Given the description of an element on the screen output the (x, y) to click on. 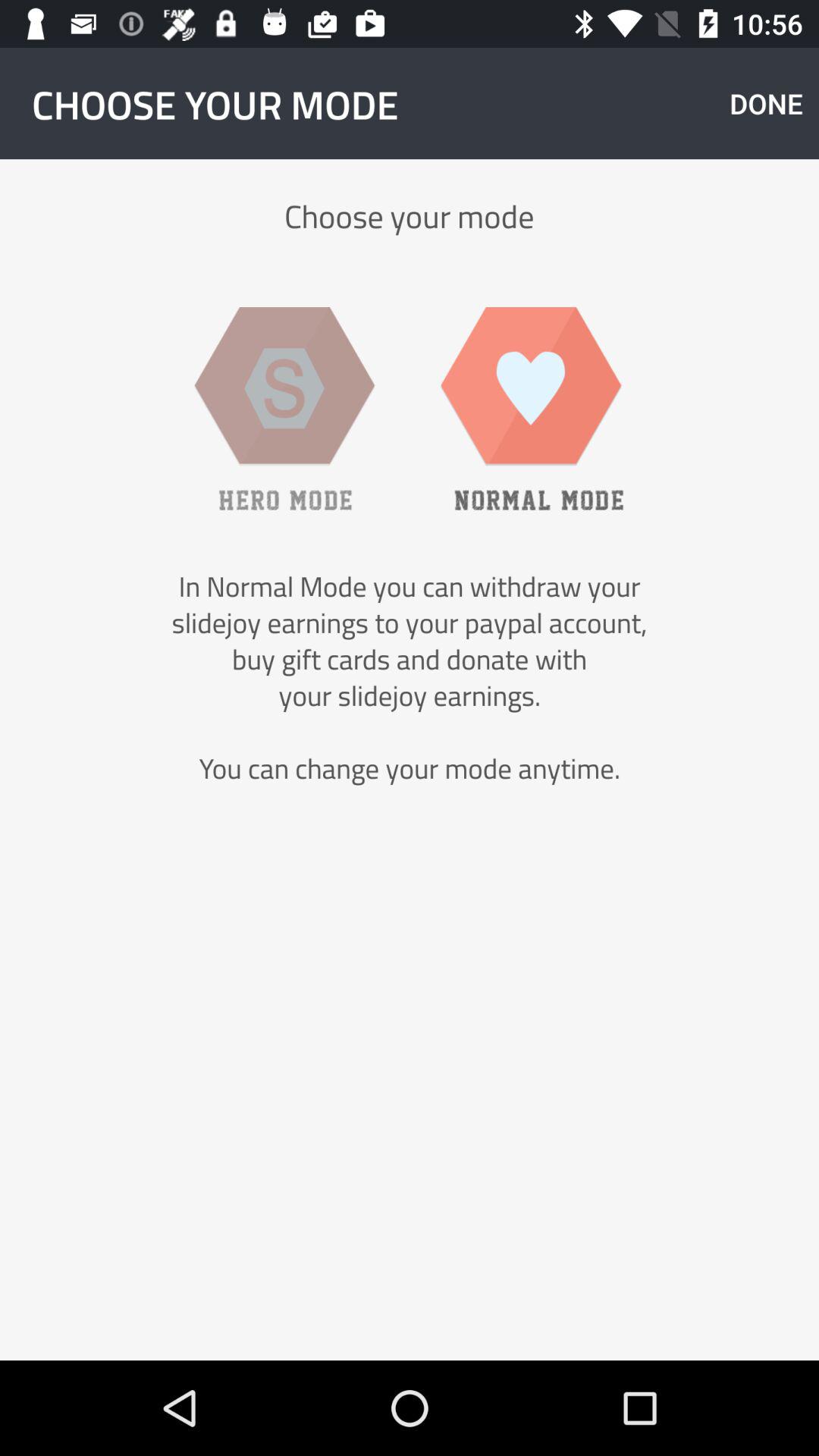
change game mode (284, 408)
